Given the description of an element on the screen output the (x, y) to click on. 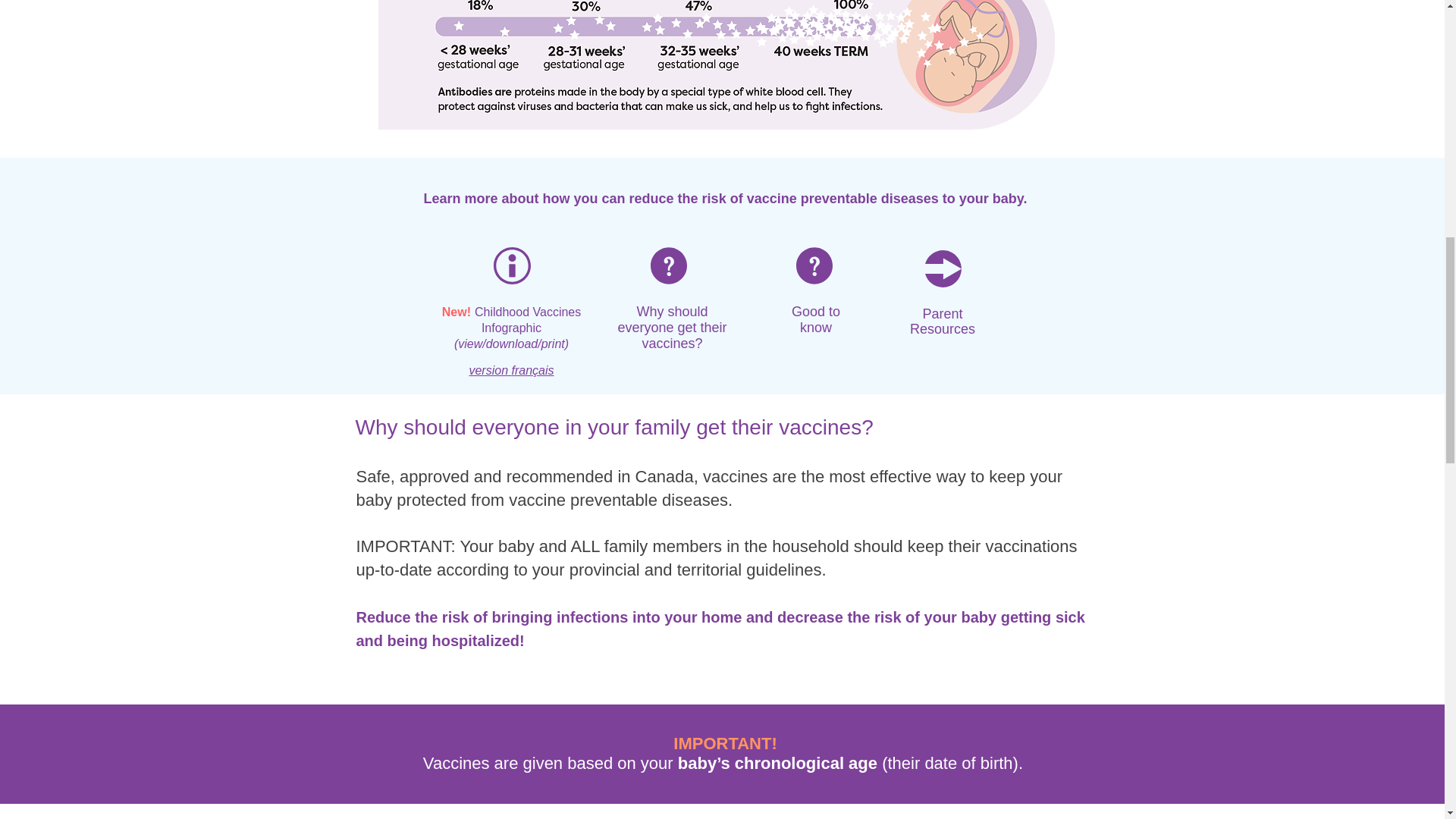
Parent Resources (942, 321)
Why should everyone get their vaccines? (671, 327)
Good to know (816, 318)
